Given the description of an element on the screen output the (x, y) to click on. 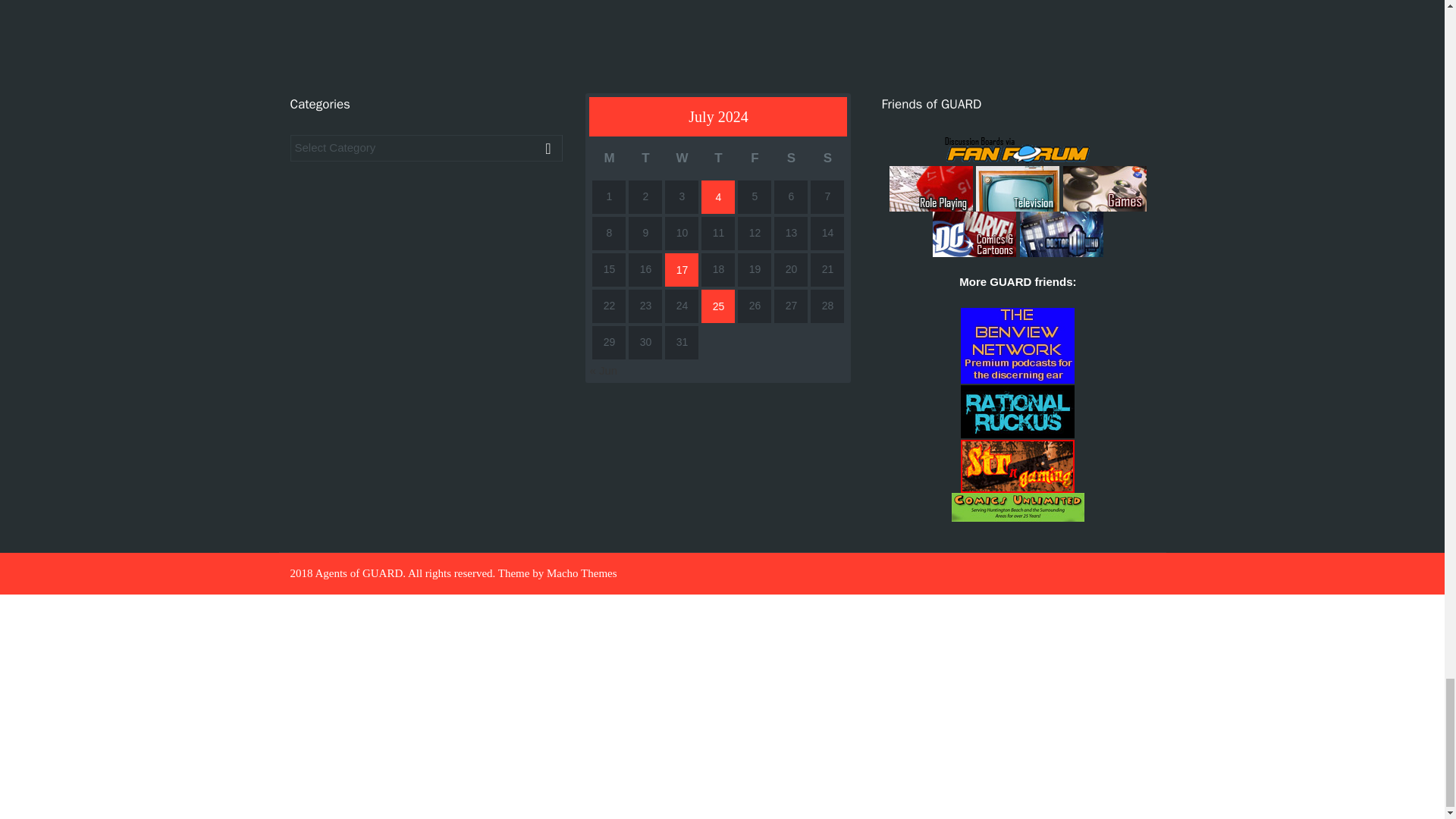
Professional WordPress Themes (582, 573)
